Given the description of an element on the screen output the (x, y) to click on. 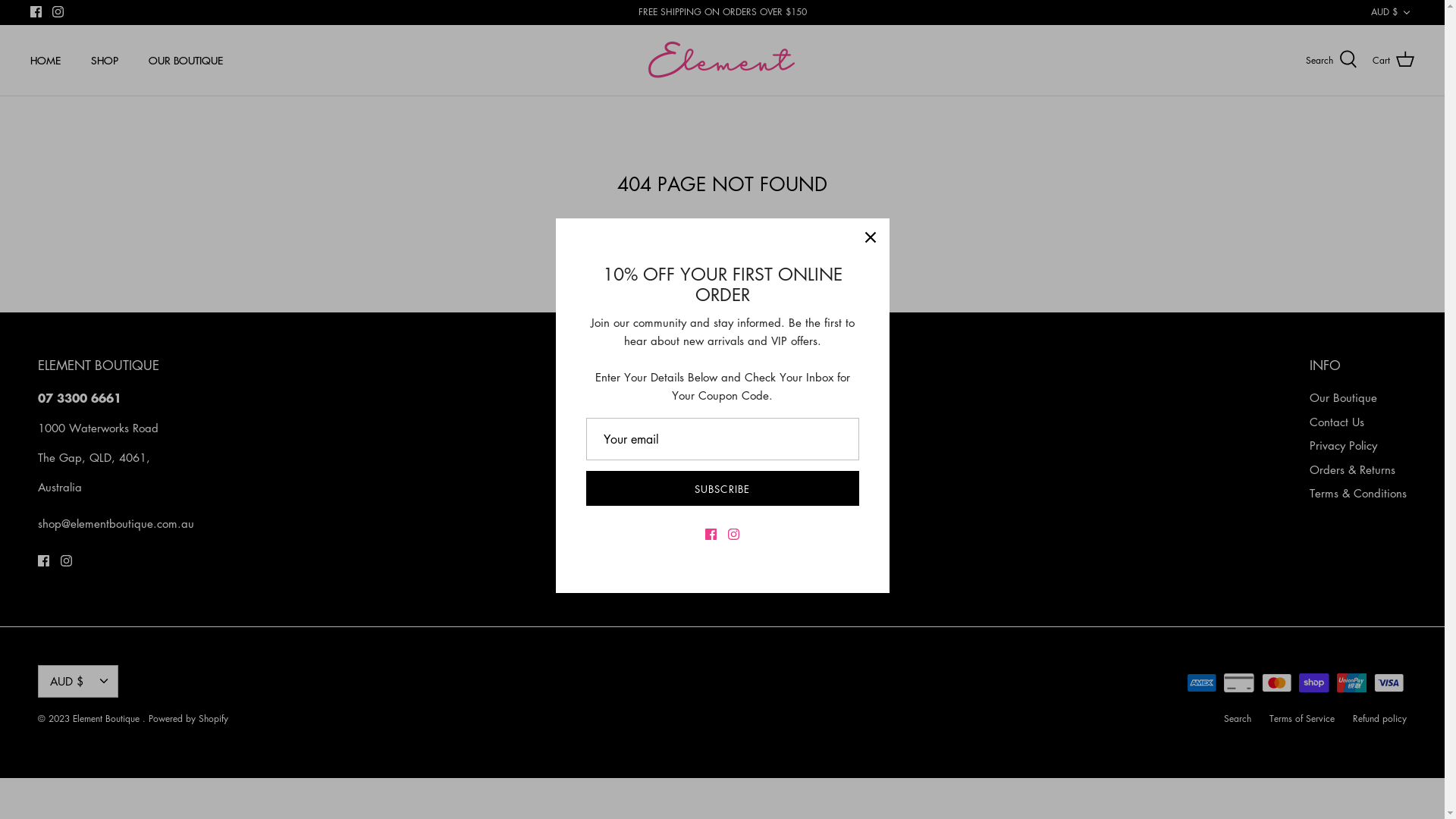
AUD $
Down Element type: text (77, 681)
Our Boutique Element type: text (1343, 396)
Facebook Element type: text (43, 560)
SUBSCRIBE Element type: text (721, 487)
Orders & Returns Element type: text (1352, 468)
Refund policy Element type: text (1379, 718)
Search Element type: text (1237, 718)
try a search Element type: text (834, 226)
HOME Element type: text (45, 59)
Cart Element type: text (1393, 59)
07 3300 6661 Element type: text (79, 397)
home page Element type: text (758, 226)
Terms of Service Element type: text (1301, 718)
Instagram Element type: text (66, 560)
AUD $
Down Element type: text (1392, 12)
Element Boutique  Element type: hover (721, 60)
Facebook Element type: text (35, 11)
Instagram Element type: text (57, 11)
SHOP Element type: text (104, 59)
Contact Us Element type: text (1336, 421)
Terms & Conditions Element type: text (1357, 492)
OUR BOUTIQUE Element type: text (185, 59)
Powered by Shopify Element type: text (188, 718)
Search Element type: text (1331, 59)
Privacy Policy Element type: text (1343, 444)
Element Boutique Element type: text (107, 718)
shop@elementboutique.com.au Element type: text (115, 522)
